Given the description of an element on the screen output the (x, y) to click on. 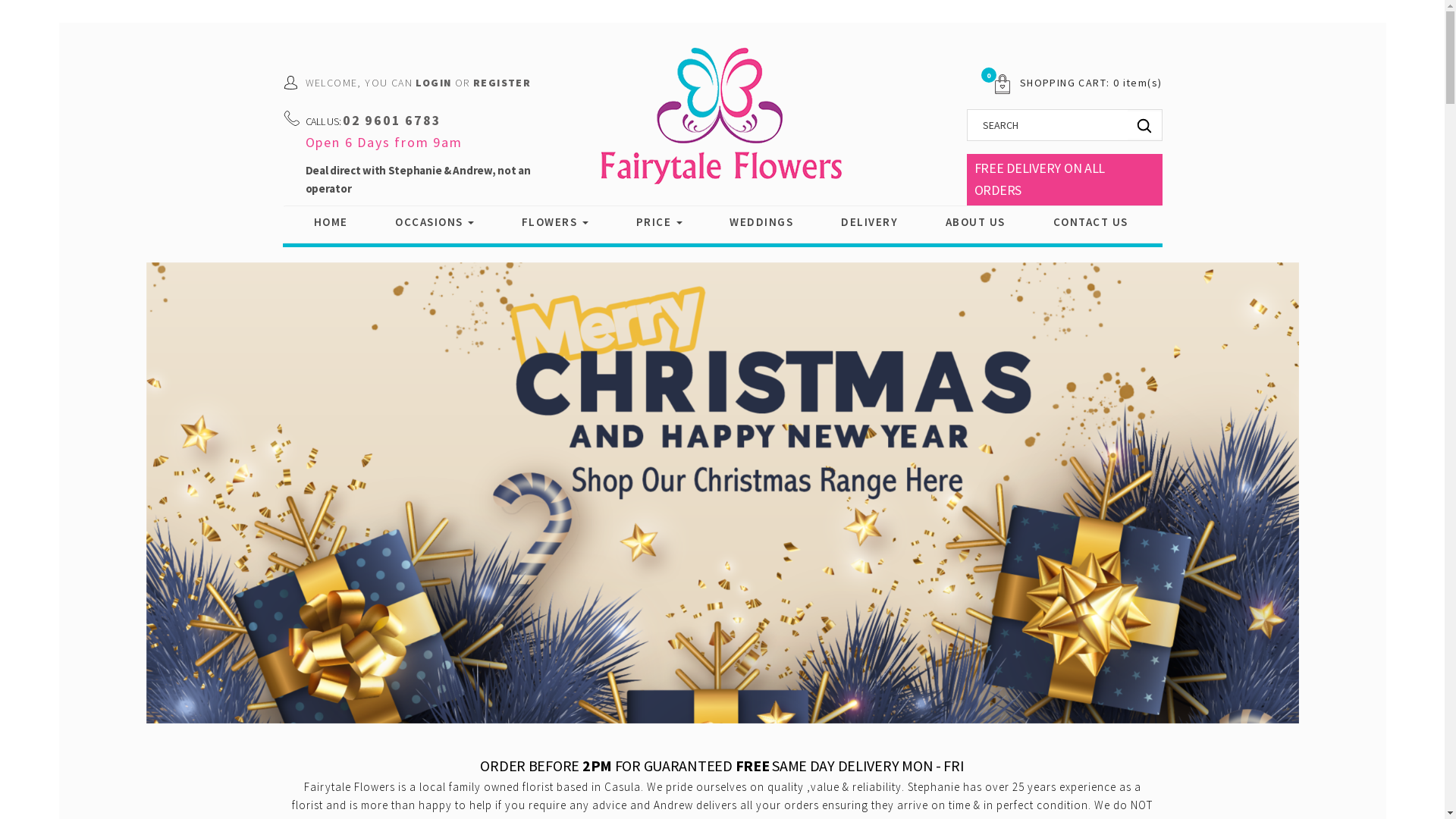
CONTACT US Element type: text (1090, 222)
LOGIN Element type: text (433, 82)
PRICE Element type: text (659, 222)
HOME Element type: text (330, 222)
REGISTER Element type: text (501, 82)
ABOUT US Element type: text (975, 222)
FLOWERS Element type: text (554, 222)
0 Element type: text (996, 82)
WEDDINGS Element type: text (760, 222)
DELIVERY Element type: text (869, 222)
SHOPPING CART: 0 item(s) Element type: text (1090, 82)
OCCASIONS Element type: text (434, 222)
